Given the description of an element on the screen output the (x, y) to click on. 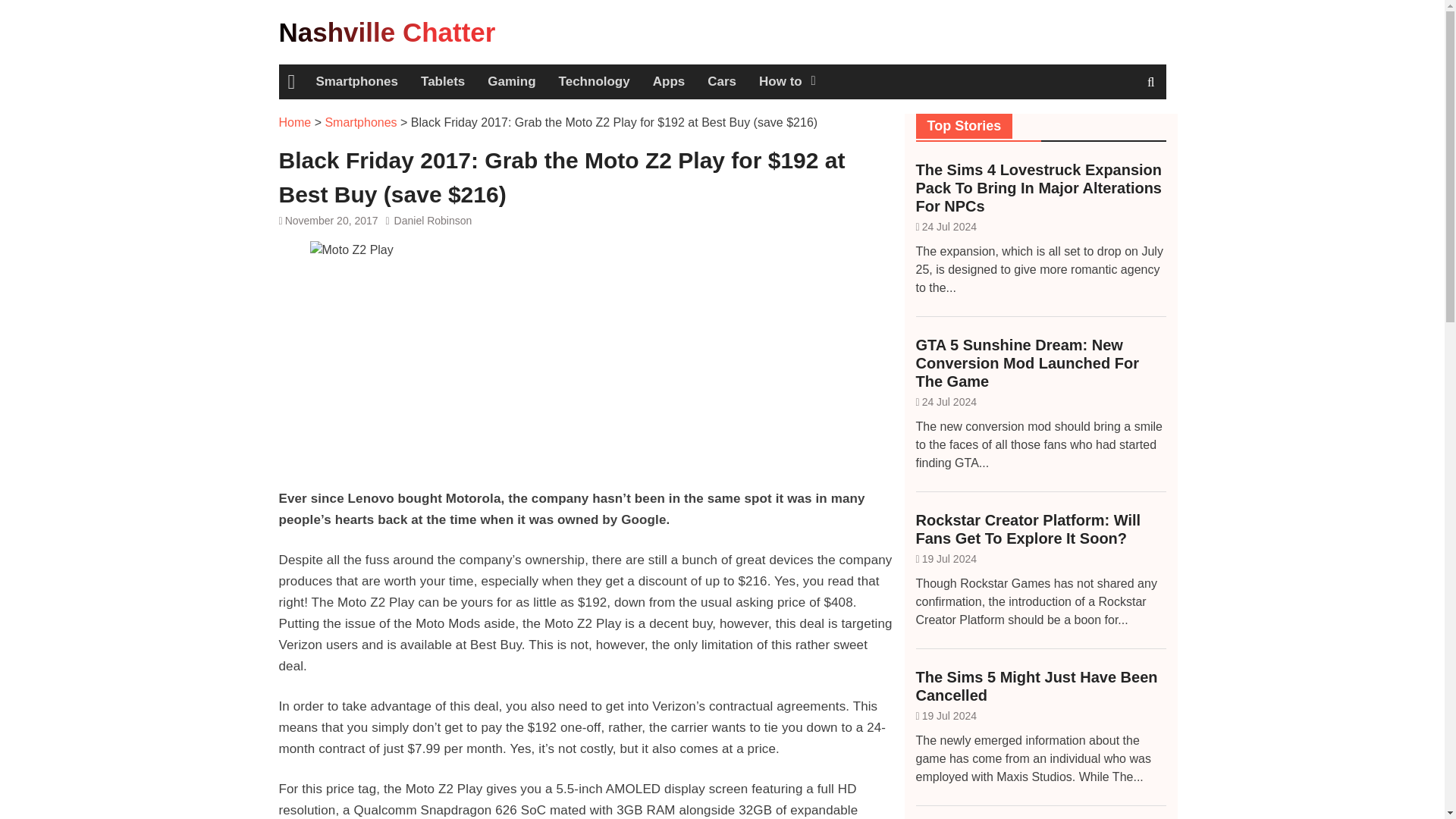
How to (786, 81)
Technology (594, 81)
Smartphones (360, 122)
Cars (721, 81)
Apps (669, 81)
Daniel Robinson (432, 220)
Nashville Chatter (387, 31)
Gaming (511, 81)
Smartphones (356, 81)
Rockstar Creator Platform: Will Fans Get To Explore It Soon? (1040, 529)
Home (291, 81)
November 20, 2017 (331, 220)
Tablets (442, 81)
The Sims 5 Might Just Have Been Cancelled (1040, 686)
